Given the description of an element on the screen output the (x, y) to click on. 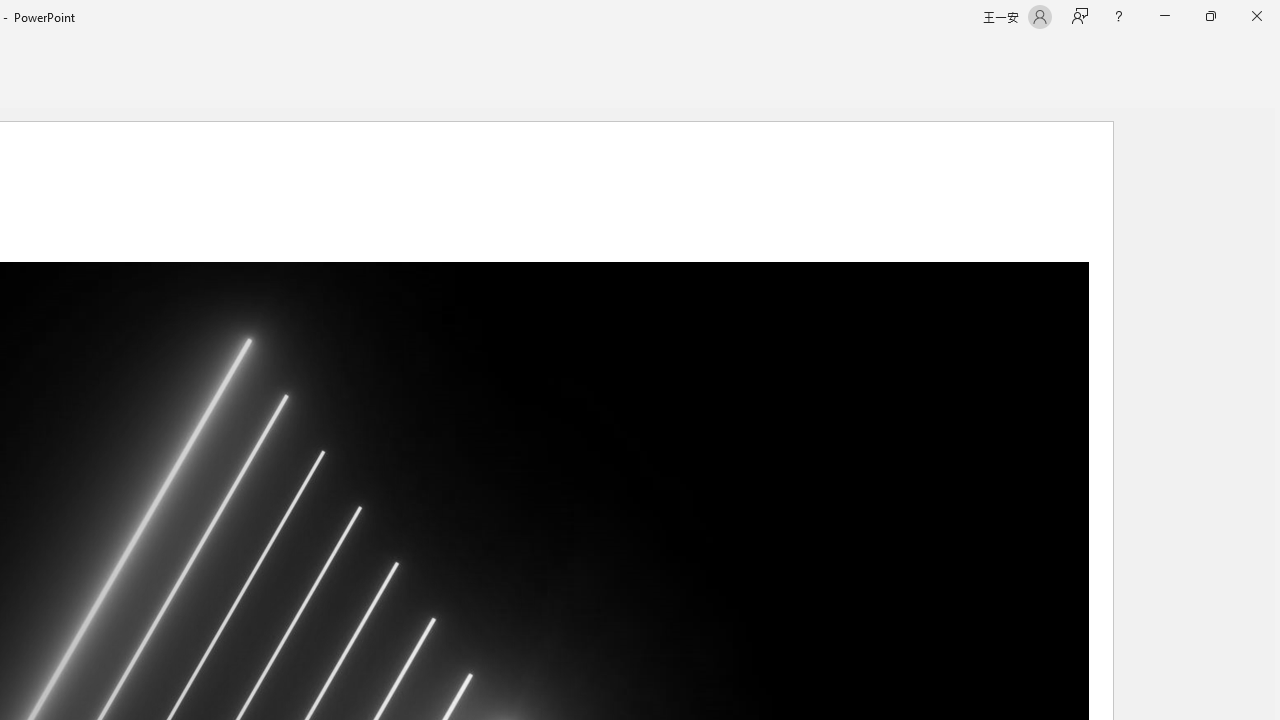
Minimize (1164, 16)
Restore Down (1210, 16)
Help (1118, 16)
Close (1256, 16)
